Given the description of an element on the screen output the (x, y) to click on. 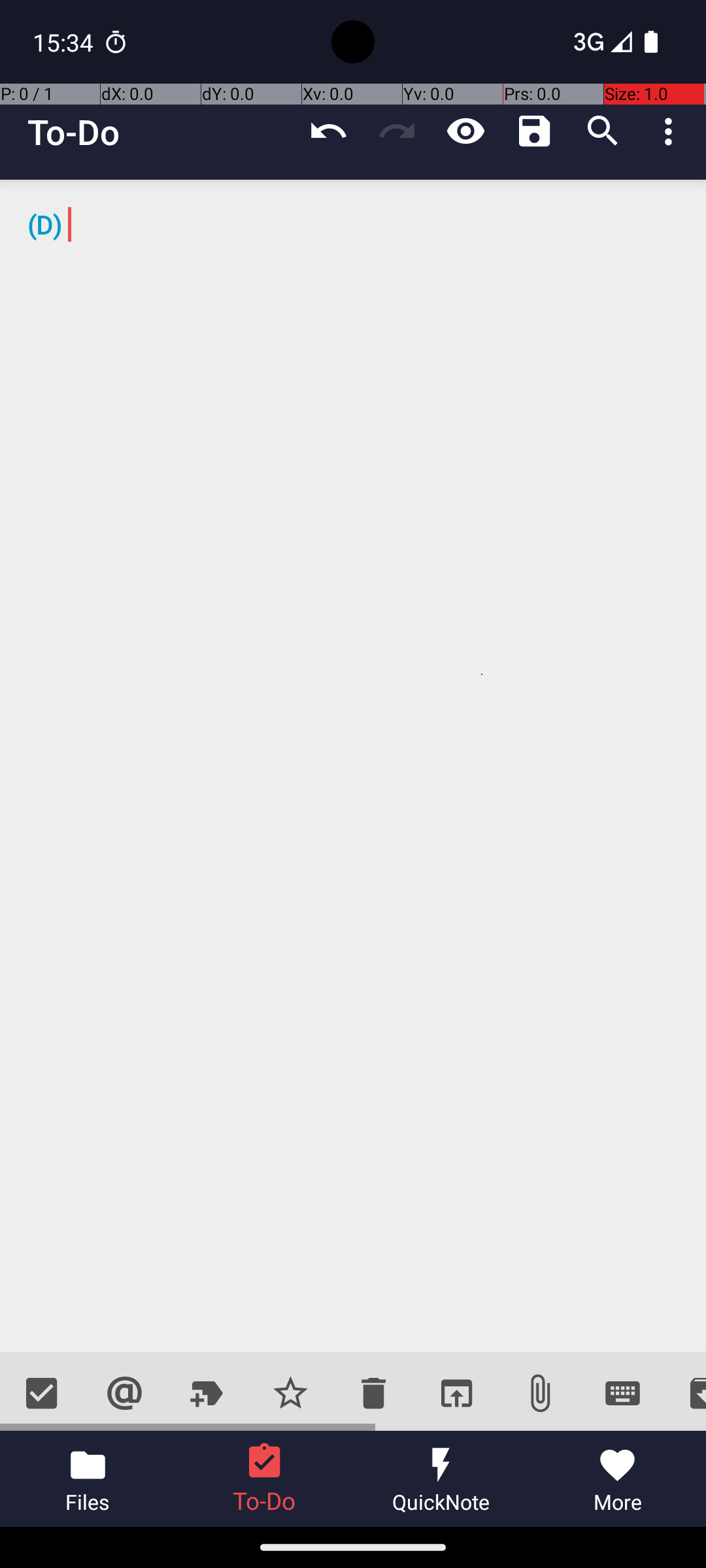
(D)  Element type: android.widget.EditText (353, 765)
